Given the description of an element on the screen output the (x, y) to click on. 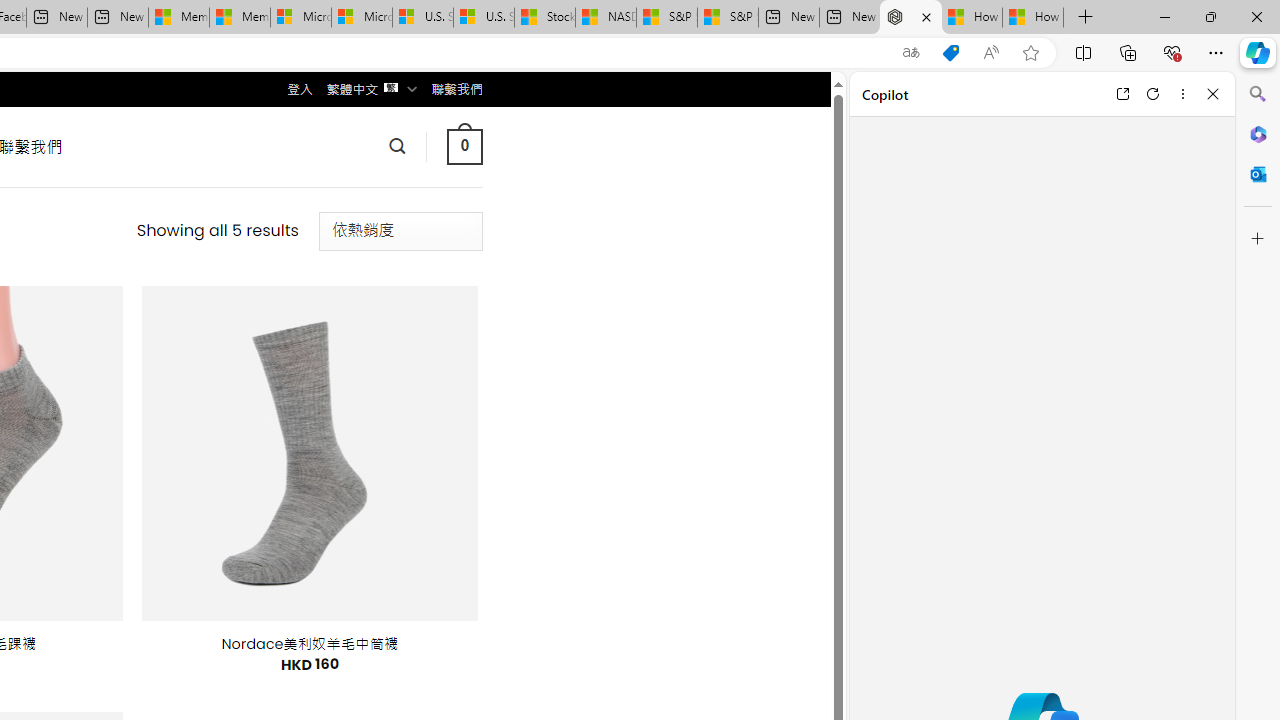
  0   (464, 146)
Open link in new tab (1122, 93)
Show translate options (910, 53)
Customize (1258, 239)
